Given the description of an element on the screen output the (x, y) to click on. 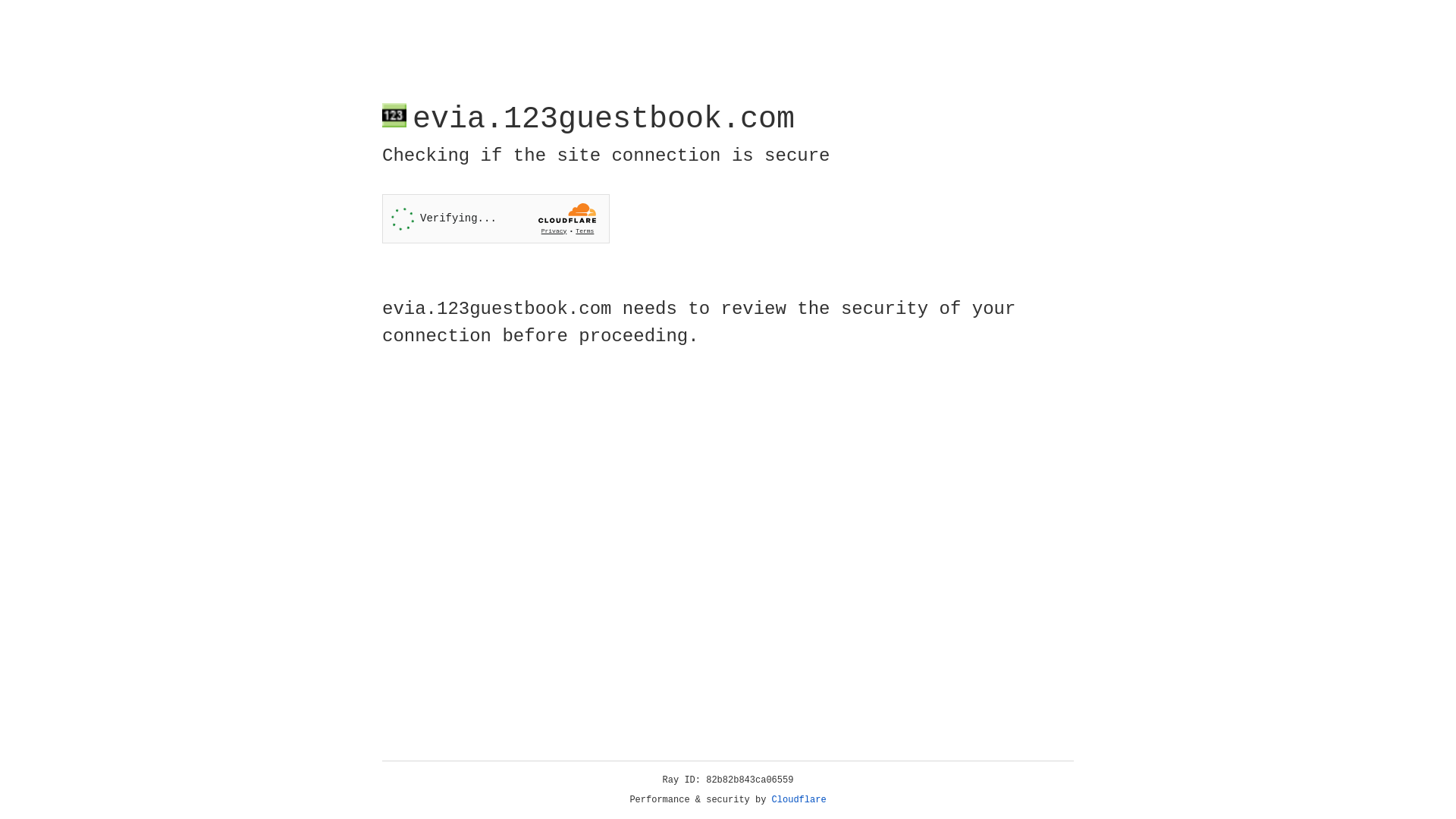
Cloudflare Element type: text (798, 799)
Widget containing a Cloudflare security challenge Element type: hover (495, 218)
